Given the description of an element on the screen output the (x, y) to click on. 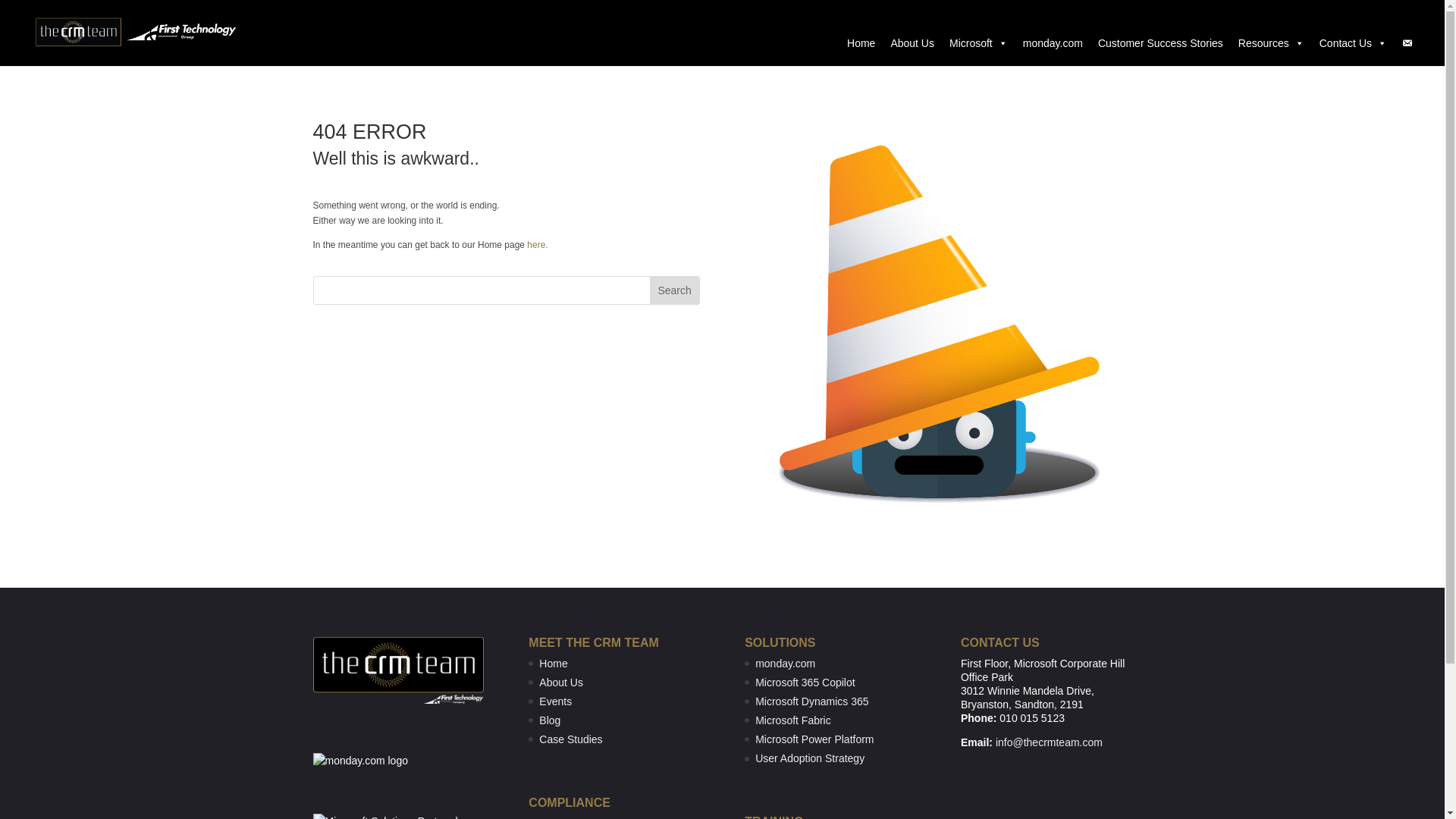
Contact Us (1352, 42)
Microsoft (978, 42)
Search (673, 289)
Home (552, 663)
Case Studies (570, 739)
Home (861, 42)
Resources (1270, 42)
About Us (560, 682)
PAIA MANUAL 2023 (586, 818)
Search (673, 289)
About Us (912, 42)
monday.com (1052, 42)
here. (537, 244)
Search (673, 289)
